Given the description of an element on the screen output the (x, y) to click on. 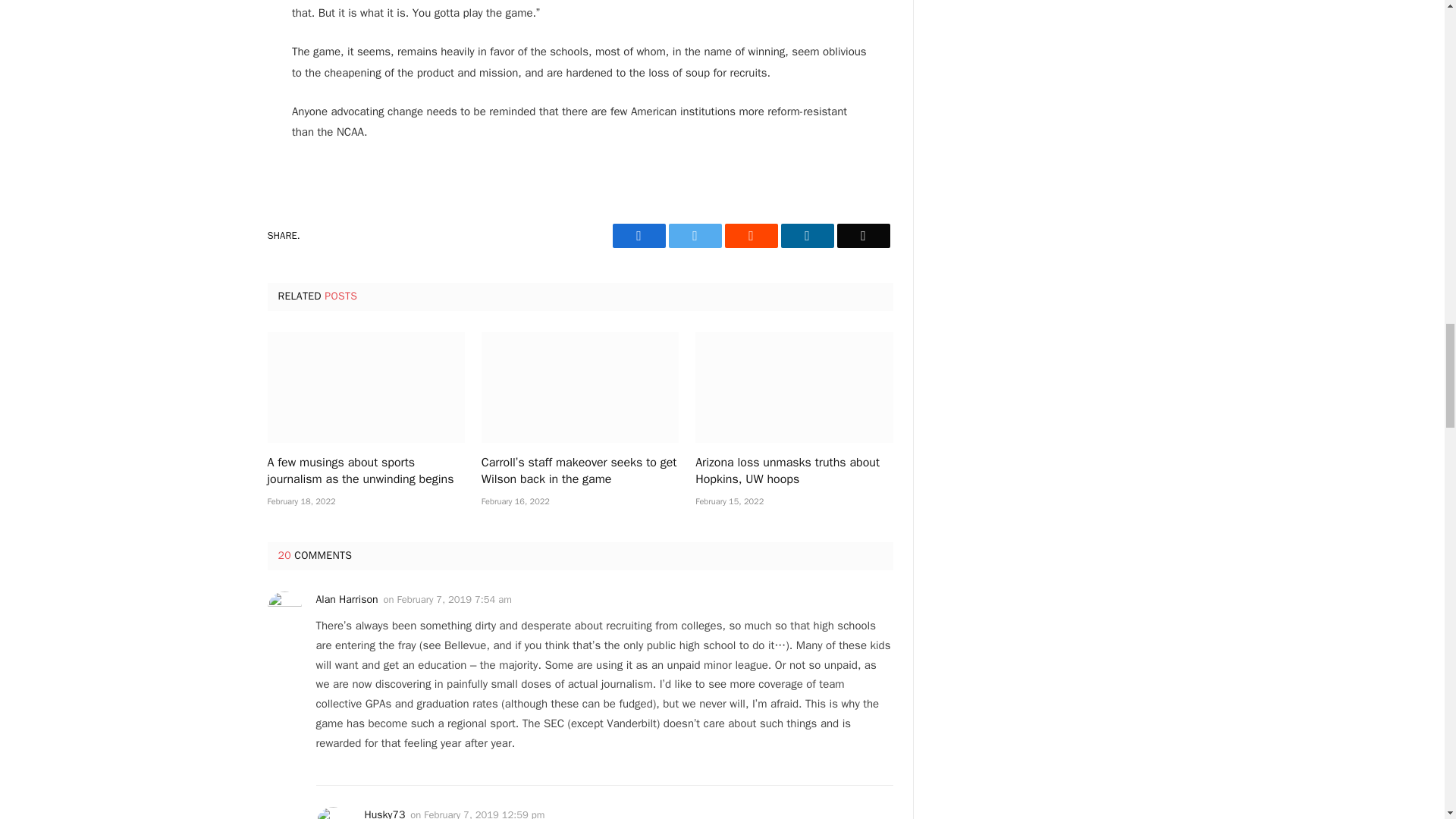
Twitter (695, 235)
LinkedIn (807, 235)
Facebook (638, 235)
Email (863, 235)
Reddit (751, 235)
